Given the description of an element on the screen output the (x, y) to click on. 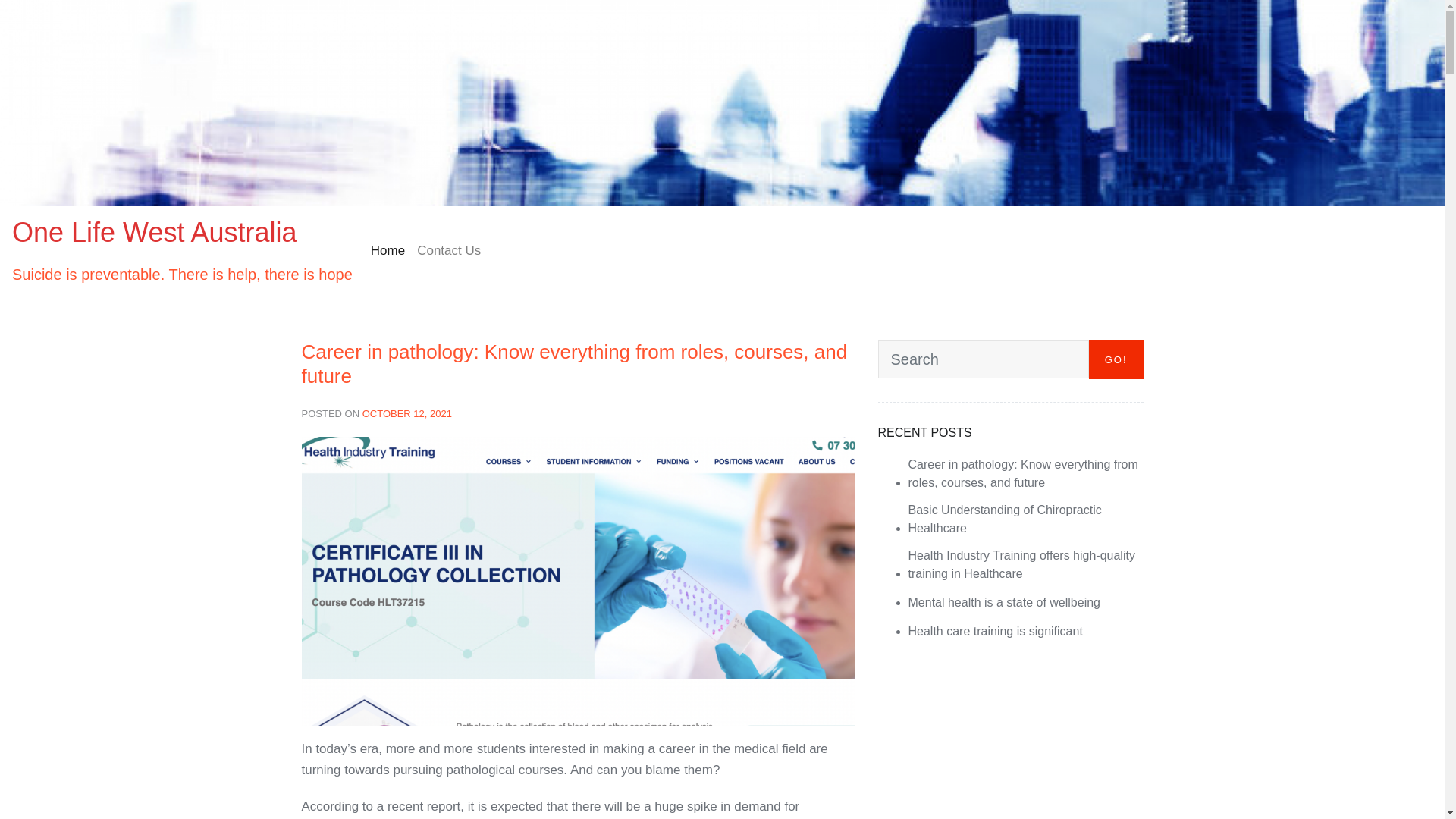
Contact Us Element type: text (448, 250)
Home Element type: text (387, 250)
OCTOBER 12, 2021 Element type: text (406, 413)
One Life West Australia Element type: text (154, 231)
Health care training is significant Element type: text (995, 631)
Mental health is a state of wellbeing Element type: text (1004, 602)
Basic Understanding of Chiropractic Healthcare Element type: text (1025, 519)
Suicide is preventable. There is help, there is hope Element type: text (182, 274)
GO! Element type: text (1115, 359)
